Given the description of an element on the screen output the (x, y) to click on. 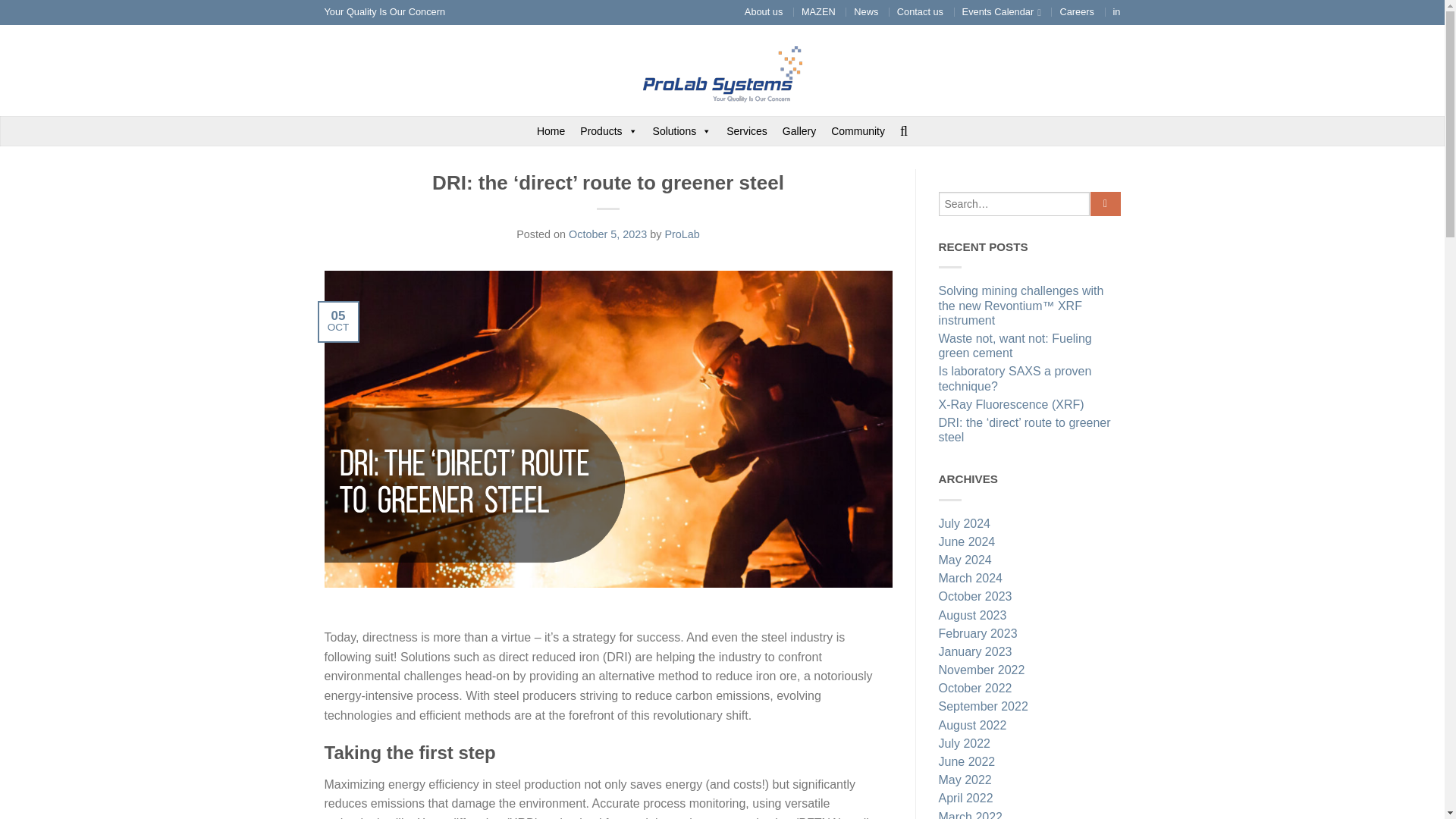
Prolab Systems - Your Quality Is Our Concern (722, 70)
MAZEN (818, 11)
News (865, 11)
Careers (1076, 11)
About us (763, 11)
Events Calendar (1001, 11)
Contact us (919, 11)
Products (608, 131)
Home (550, 131)
